Given the description of an element on the screen output the (x, y) to click on. 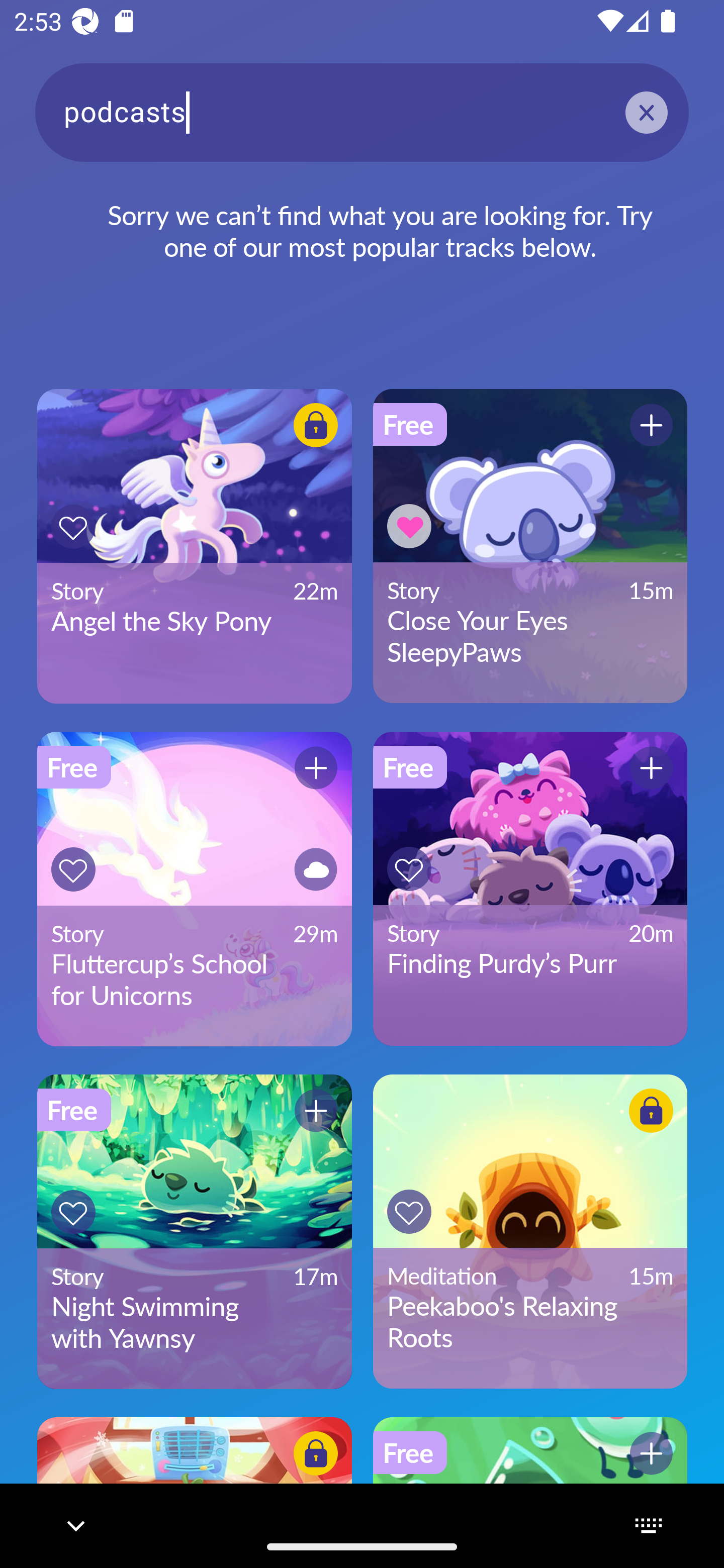
podcasts (361, 111)
Button (315, 424)
Button (650, 424)
Button (409, 525)
Button (73, 526)
Button (315, 767)
Button (650, 767)
Button (409, 868)
Button (73, 869)
Button (315, 869)
Button (315, 1109)
Button (650, 1109)
Button (409, 1211)
Button (73, 1211)
Button (315, 1453)
Button (650, 1453)
